Given the description of an element on the screen output the (x, y) to click on. 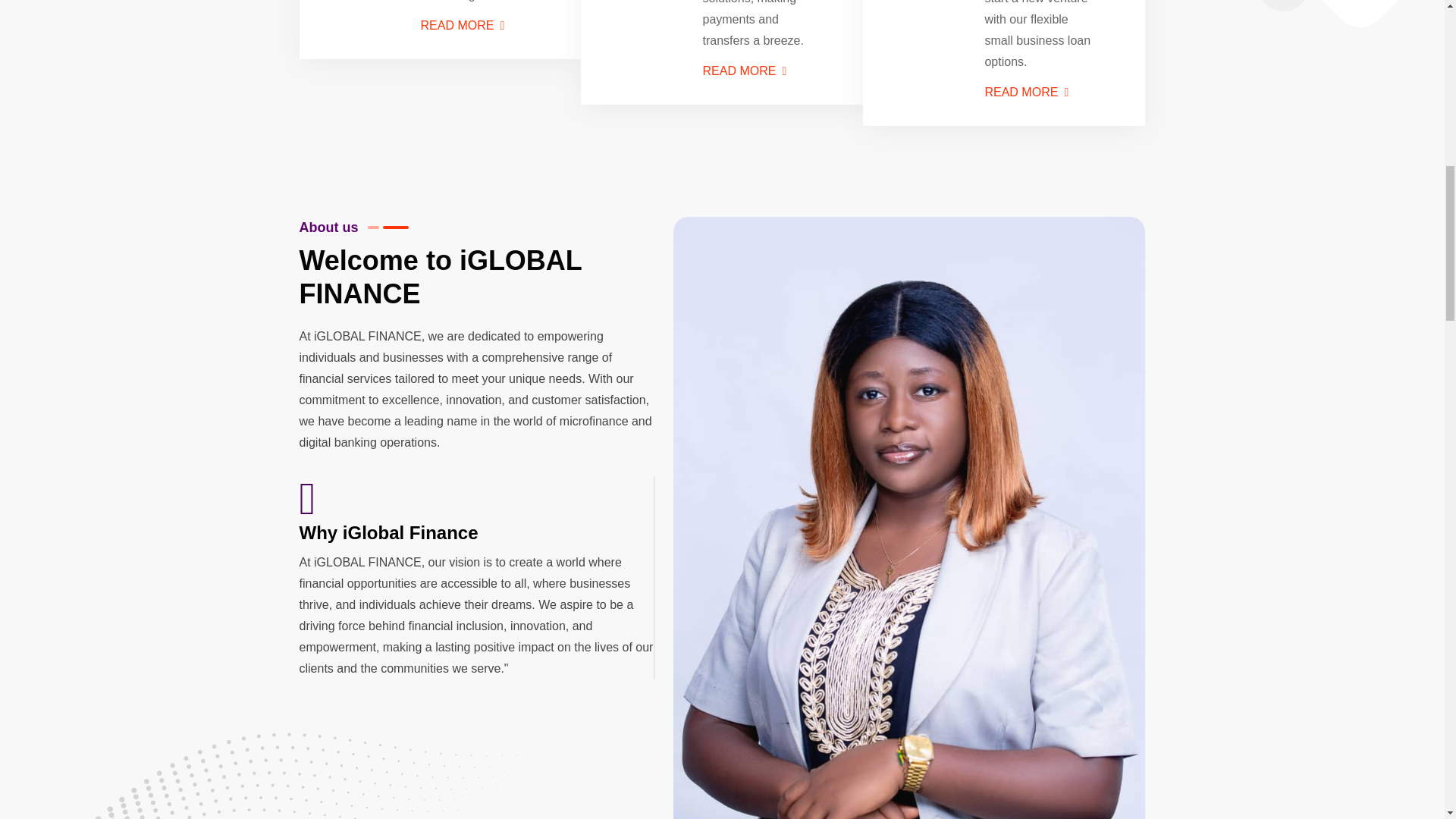
TOP (1410, 60)
